Given the description of an element on the screen output the (x, y) to click on. 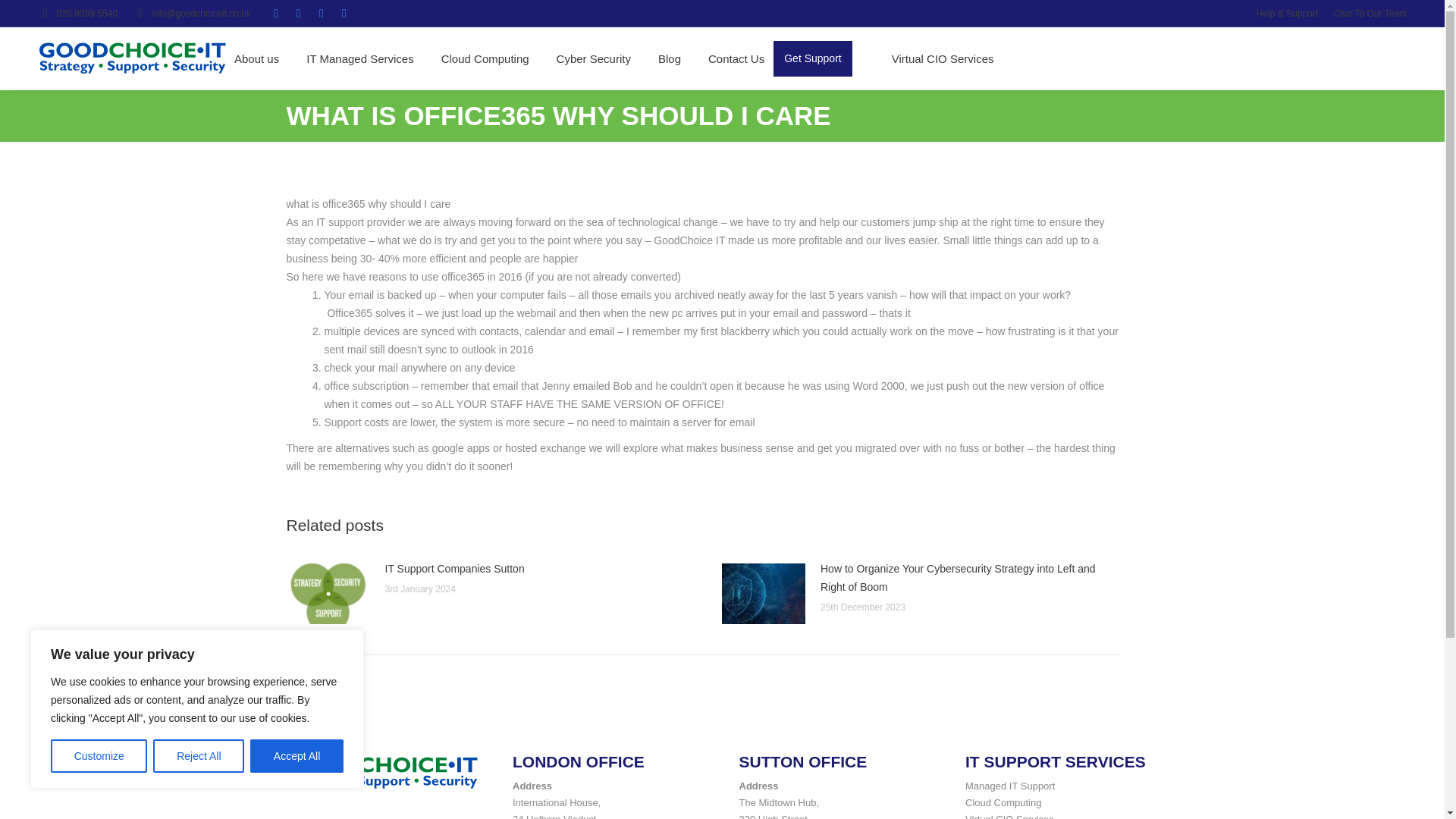
Chat To Our Team (1369, 13)
Linkedin page opens in new window (298, 13)
Reject All (198, 756)
Instagram page opens in new window (275, 13)
Customize (98, 756)
Contact Us (735, 58)
020 8099 5540 (77, 13)
About us (256, 58)
IT Managed Services (359, 58)
About us (256, 58)
Twitter page opens in new window (321, 13)
Facebook page opens in new window (343, 13)
Linkedin page opens in new window (298, 13)
Instagram page opens in new window (275, 13)
Contact Us (735, 58)
